Given the description of an element on the screen output the (x, y) to click on. 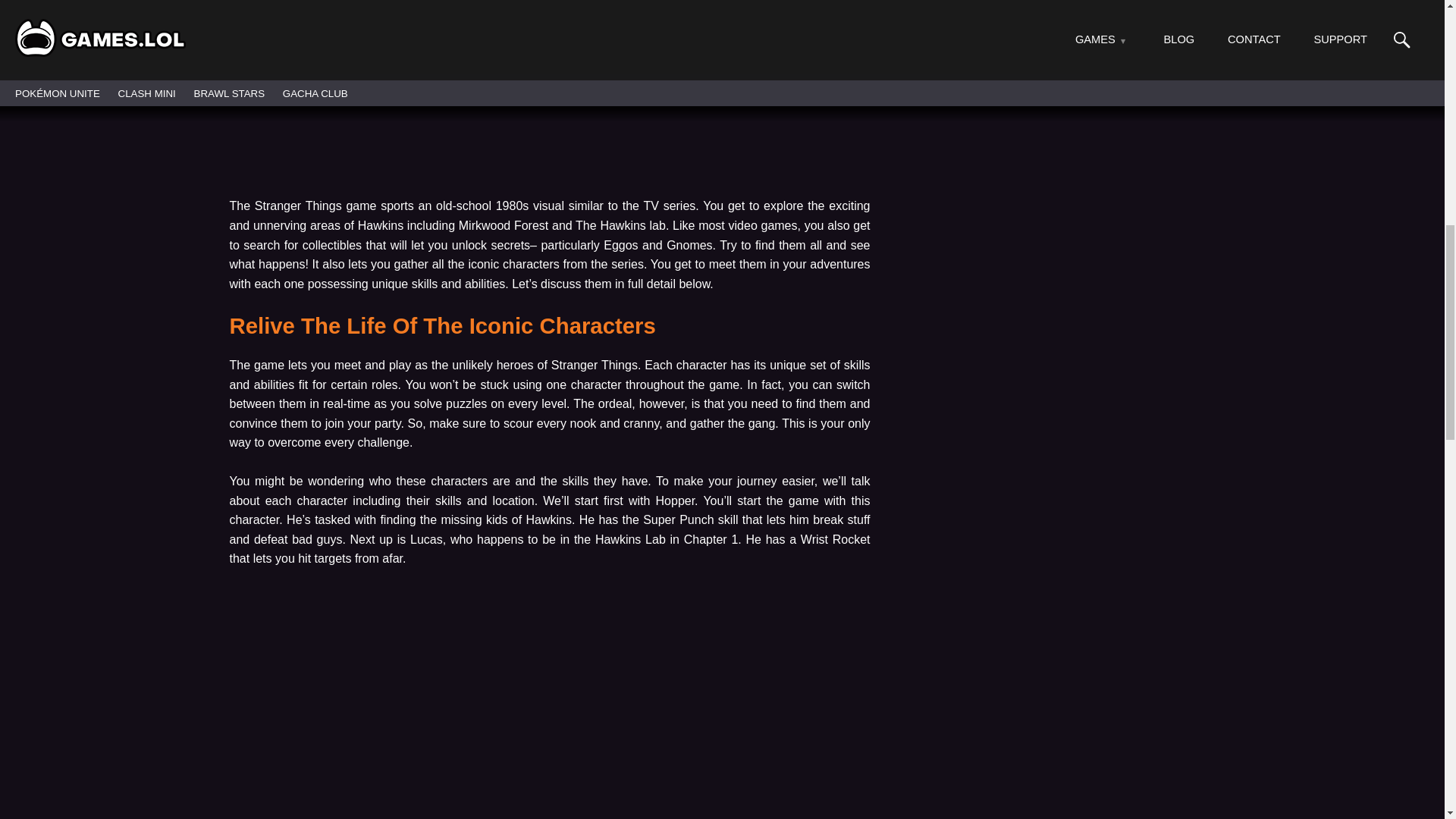
stranger things game (549, 79)
stranger things play (549, 713)
